Given the description of an element on the screen output the (x, y) to click on. 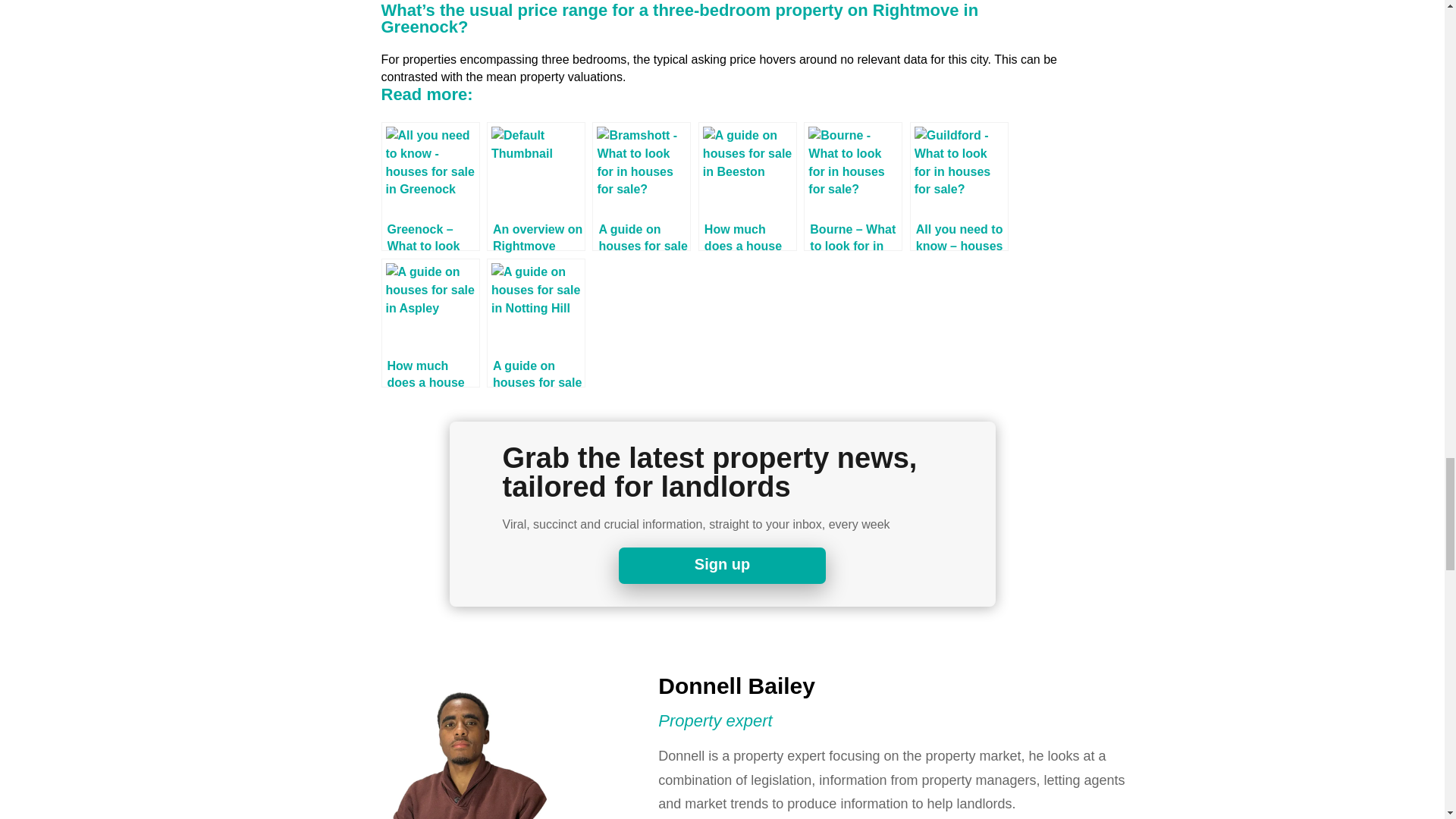
A guide on houses for sale in Notting Hill (535, 322)
An overview on Rightmove property listings in the UK (535, 186)
How much does a house for sale cost in Beeston? (747, 186)
How much does a house for sale cost in Aspley? (429, 322)
A guide on houses for sale in Bramshott (641, 186)
donnell-bailey (462, 739)
